Given the description of an element on the screen output the (x, y) to click on. 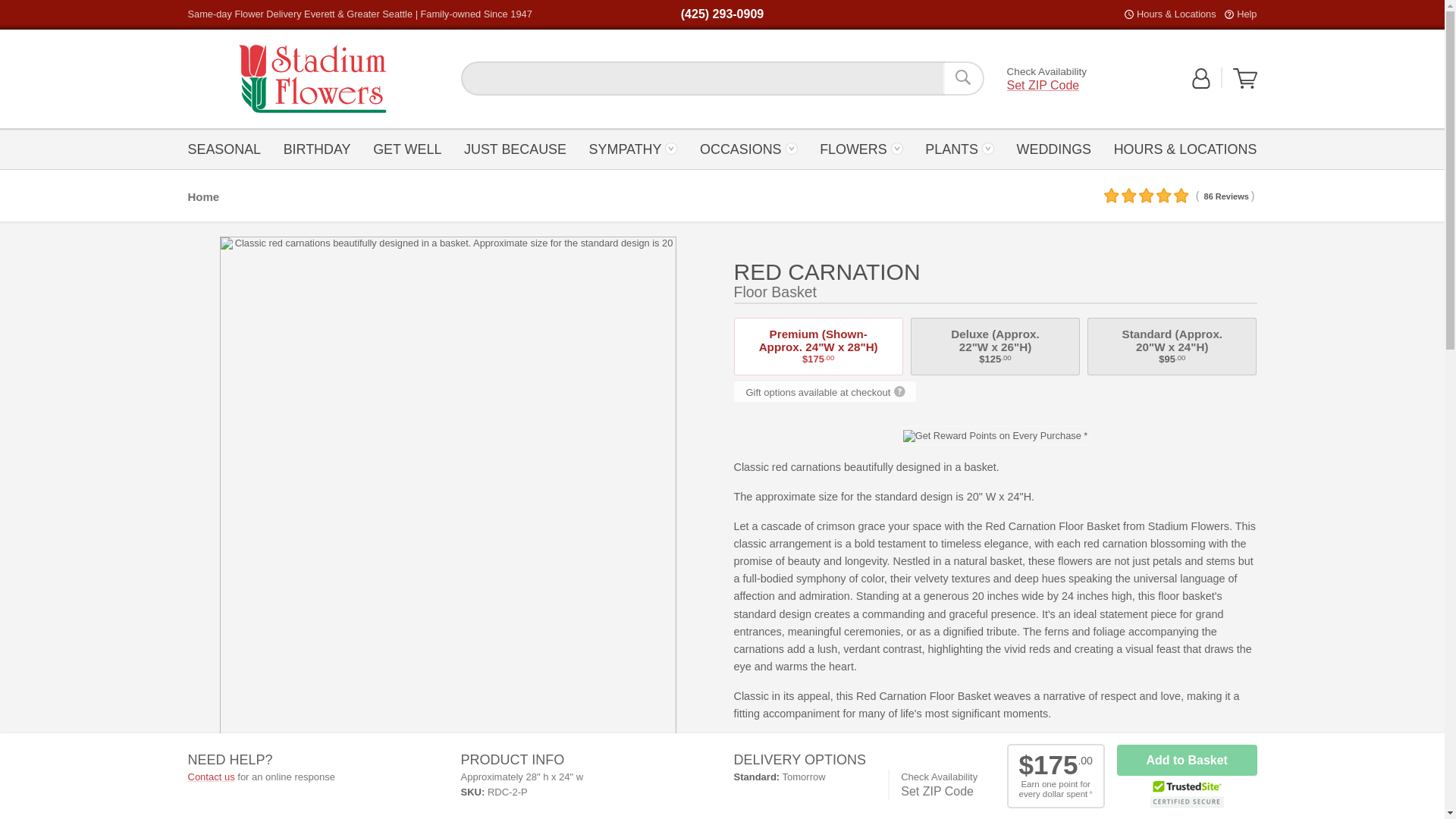
SYMPATHY (632, 147)
Search (312, 79)
View Your Shopping Cart (963, 78)
BIRTHDAY (1245, 78)
Help (316, 147)
Back to the Home Page (1246, 13)
GET WELL (312, 79)
JUST BECAUSE (407, 147)
SEASONAL (515, 147)
